Given the description of an element on the screen output the (x, y) to click on. 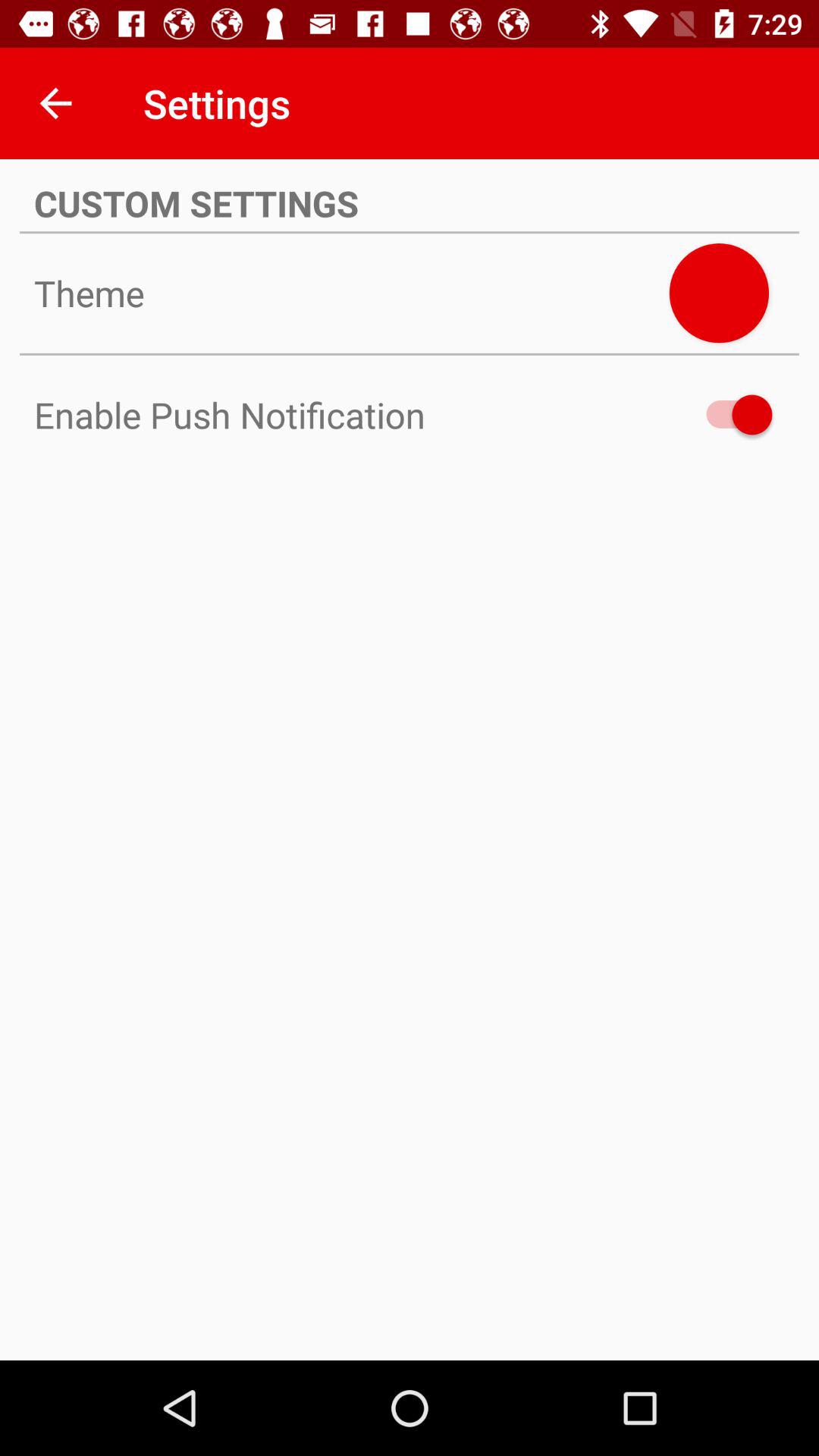
turn off the item next to the settings (55, 103)
